Given the description of an element on the screen output the (x, y) to click on. 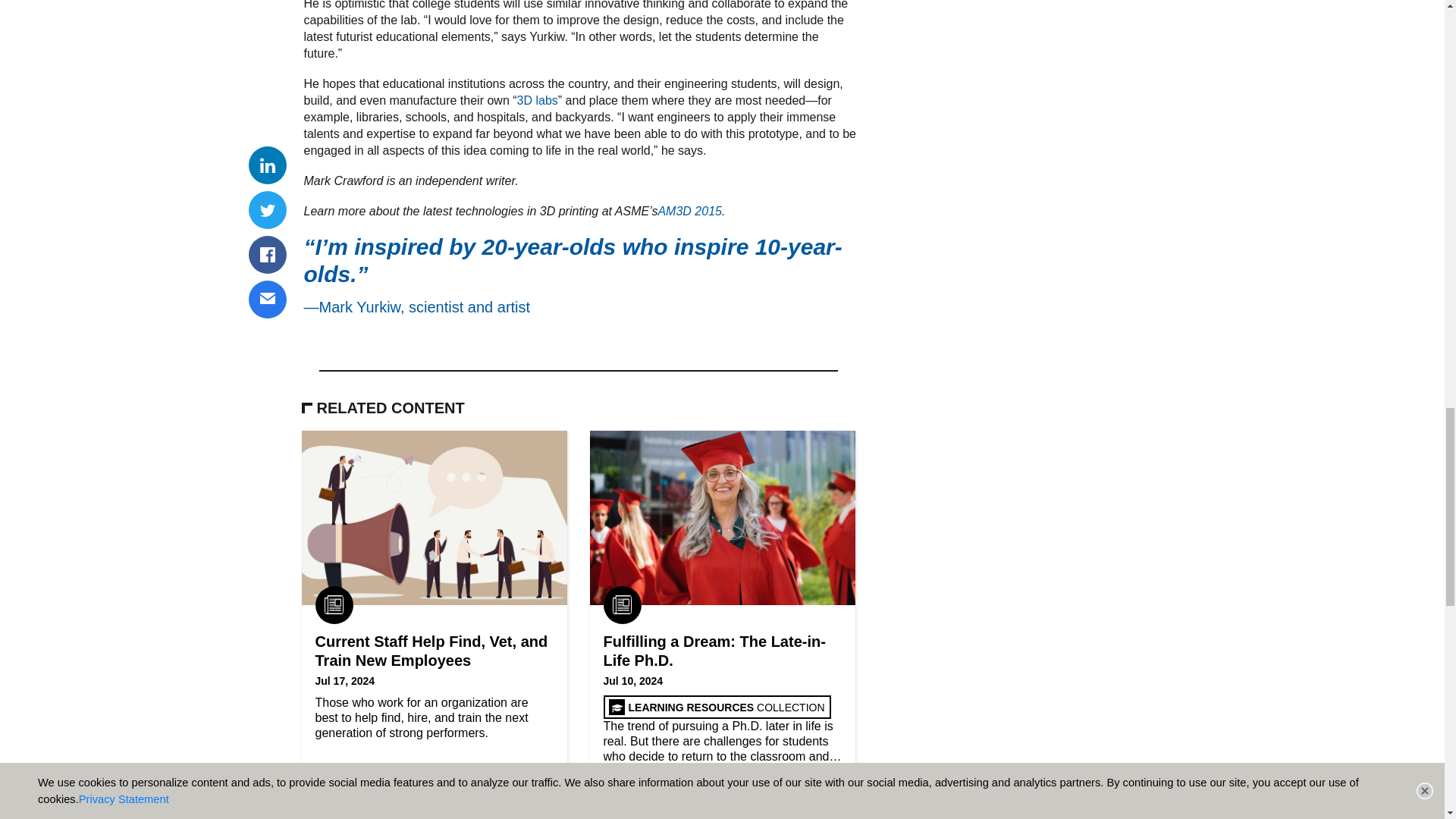
3D labs (536, 100)
AM3D 2015 (536, 100)
AM3D 2015 (690, 210)
